Given the description of an element on the screen output the (x, y) to click on. 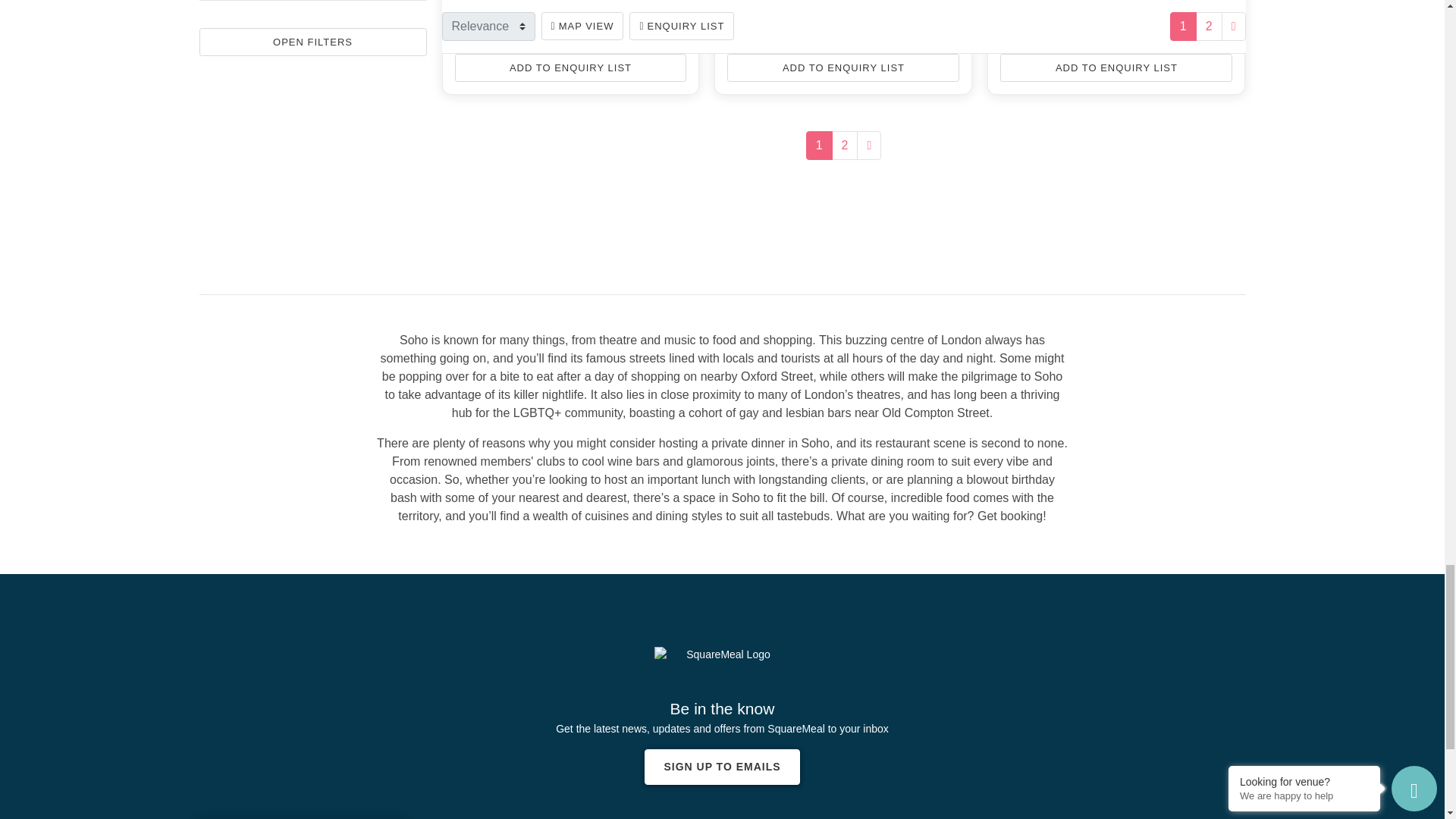
OPEN FILTERS (312, 41)
OPEN FILTERS (312, 41)
